Given the description of an element on the screen output the (x, y) to click on. 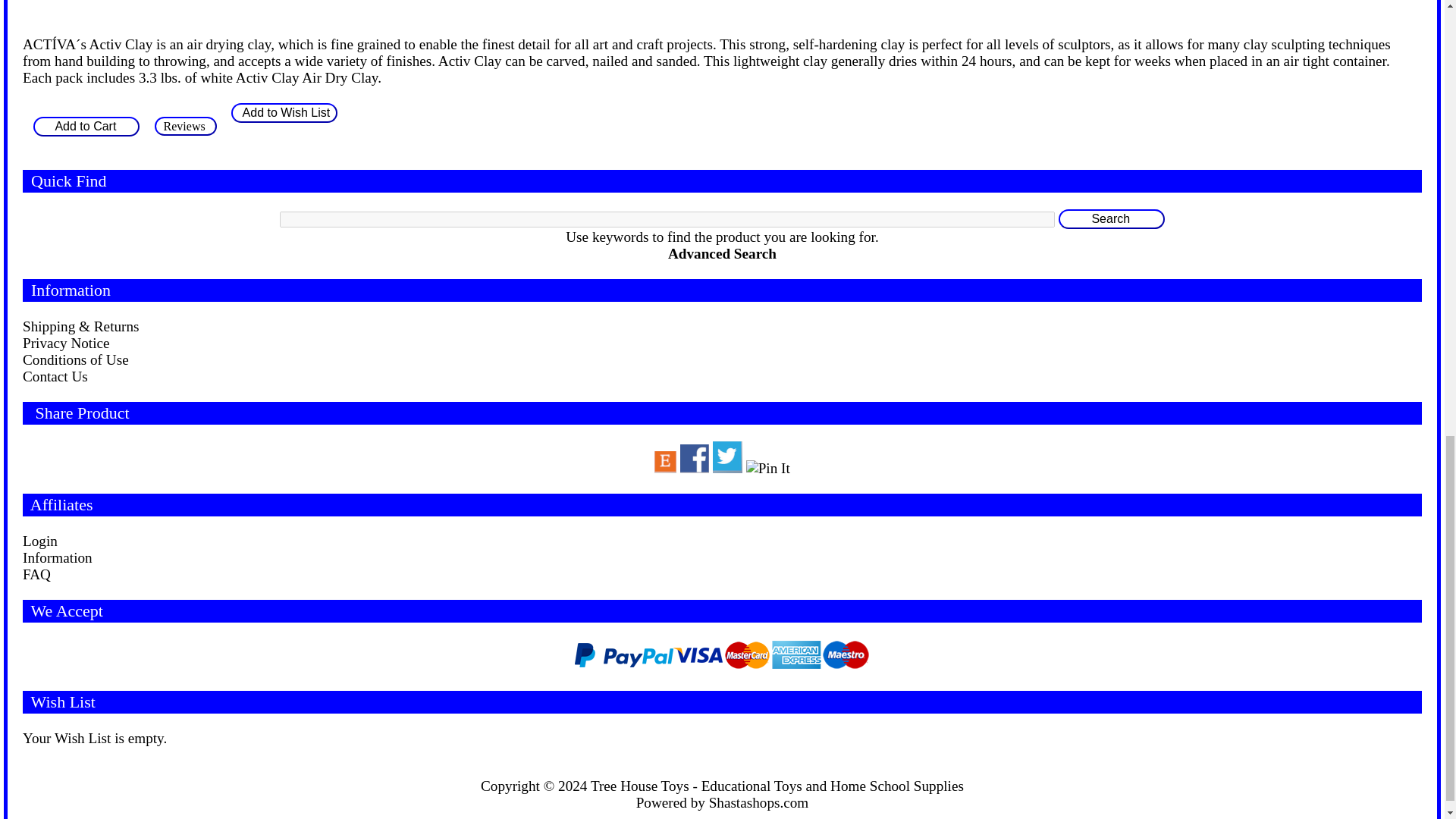
Share via E-Mail (665, 462)
Share on Twitter (727, 457)
Share on Facebook (694, 458)
Pin It (767, 468)
